Given the description of an element on the screen output the (x, y) to click on. 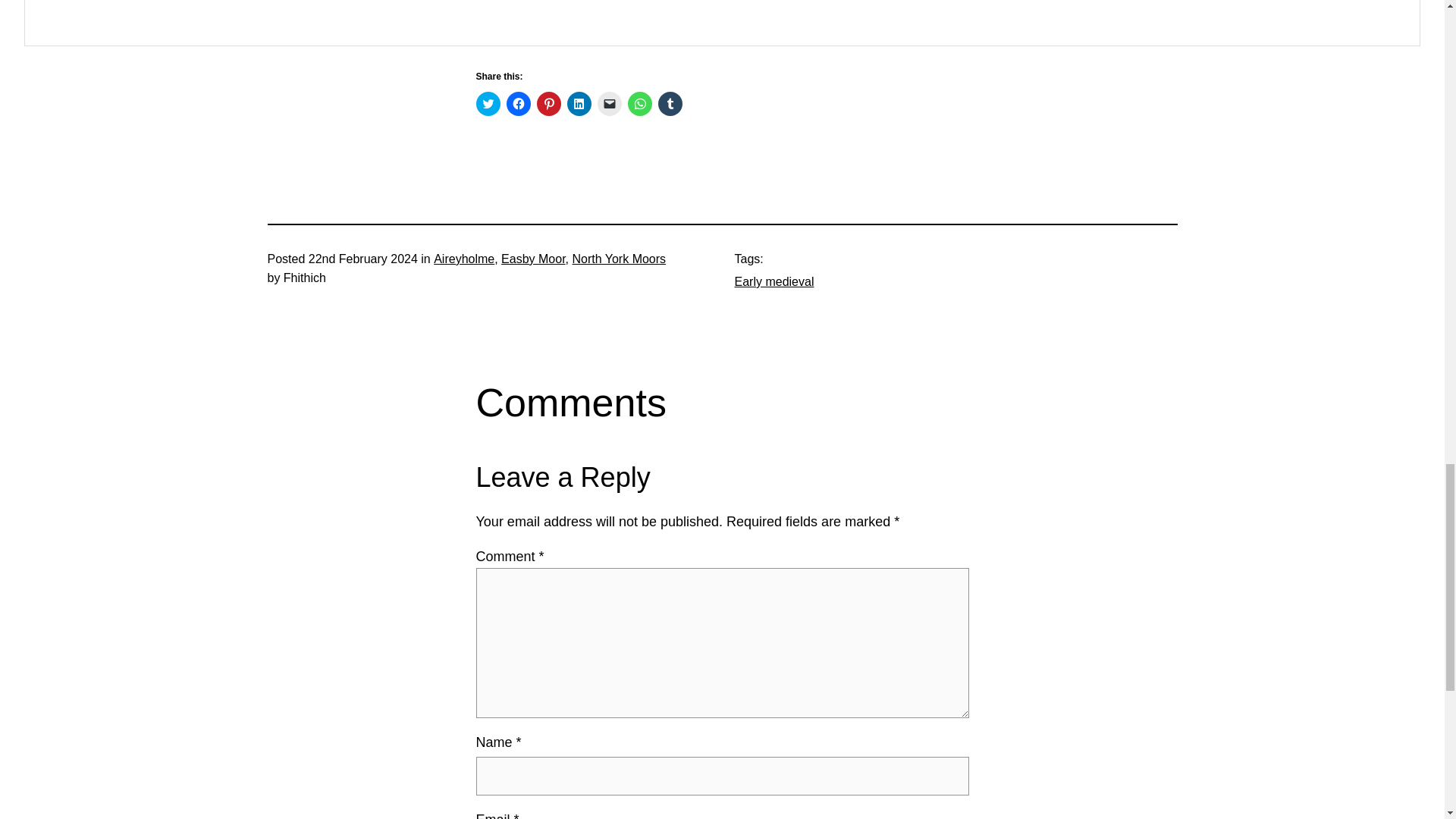
Click to share on WhatsApp (639, 103)
North York Moors (618, 258)
Easby Moor (532, 258)
Click to share on Pinterest (548, 103)
Early medieval (773, 281)
Click to email a link to a friend (608, 103)
Aireyholme (464, 258)
Click to share on Twitter (488, 103)
Click to share on Tumblr (670, 103)
Click to share on Facebook (518, 103)
